Given the description of an element on the screen output the (x, y) to click on. 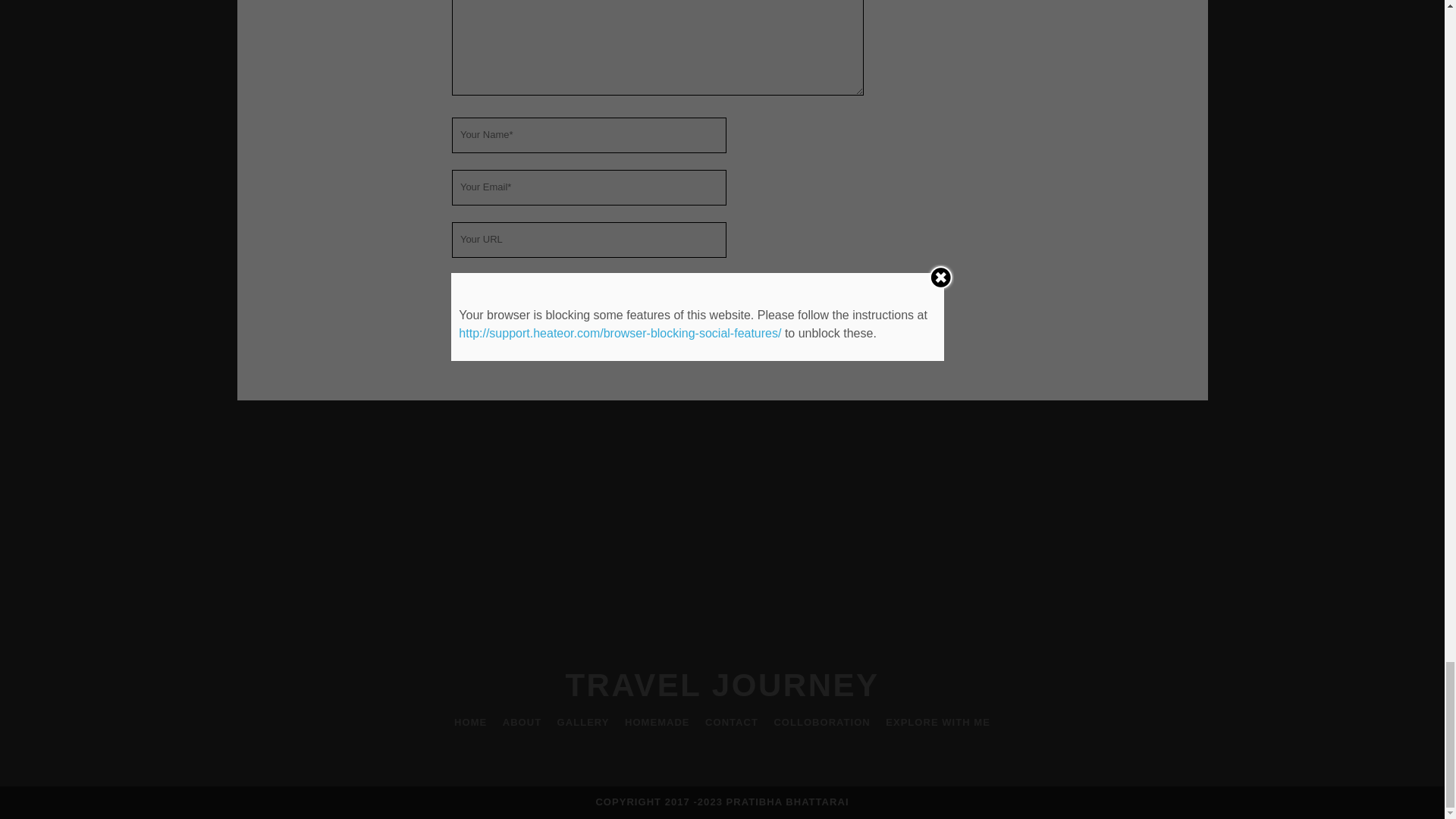
yes (459, 283)
Post Comment (505, 328)
